Given the description of an element on the screen output the (x, y) to click on. 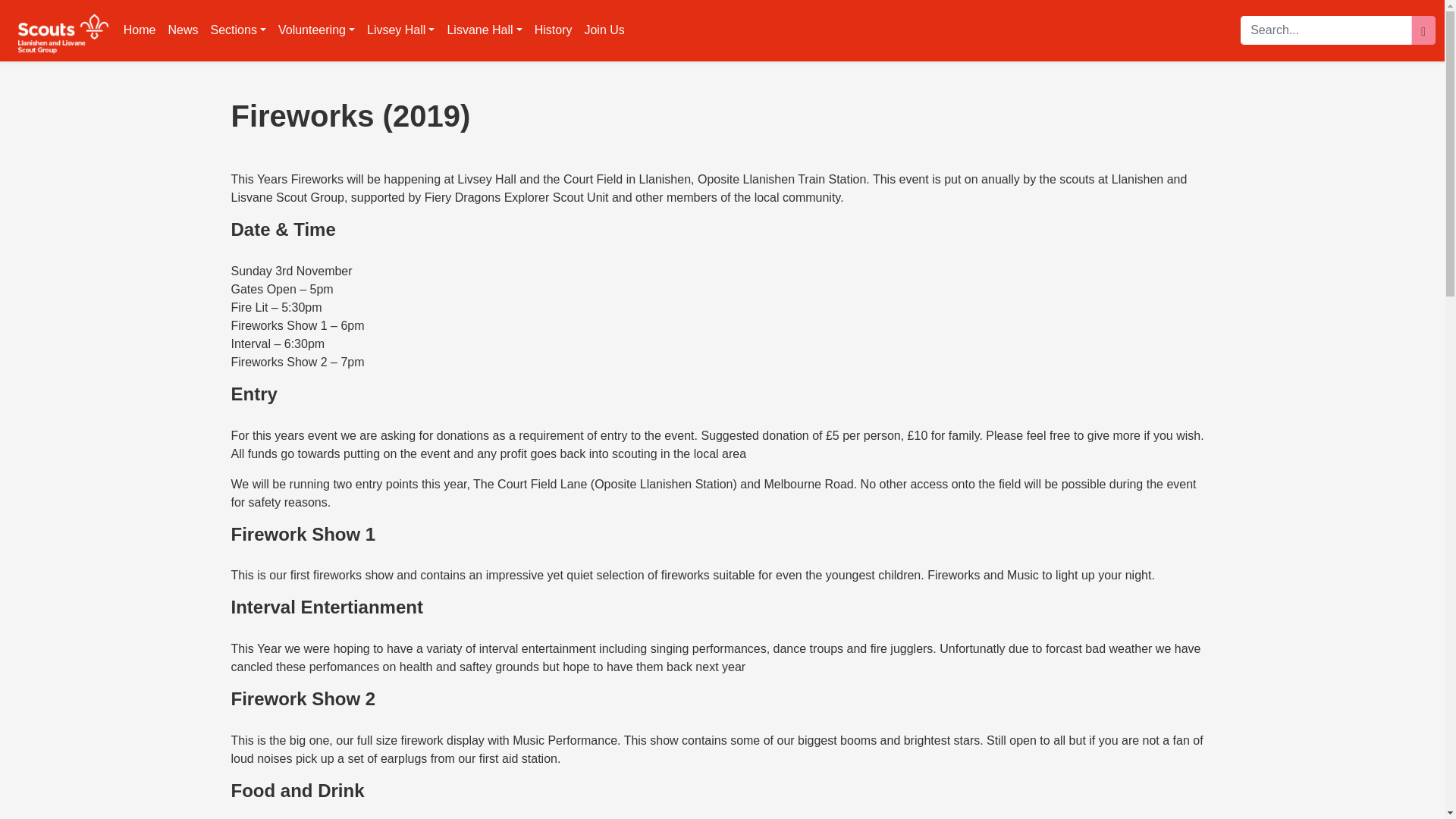
Lisvane Hall (484, 30)
Livsey Hall (401, 30)
Volunteering (316, 30)
Home (139, 30)
News (183, 30)
Sections (238, 30)
History (553, 30)
Join Us (604, 30)
